Given the description of an element on the screen output the (x, y) to click on. 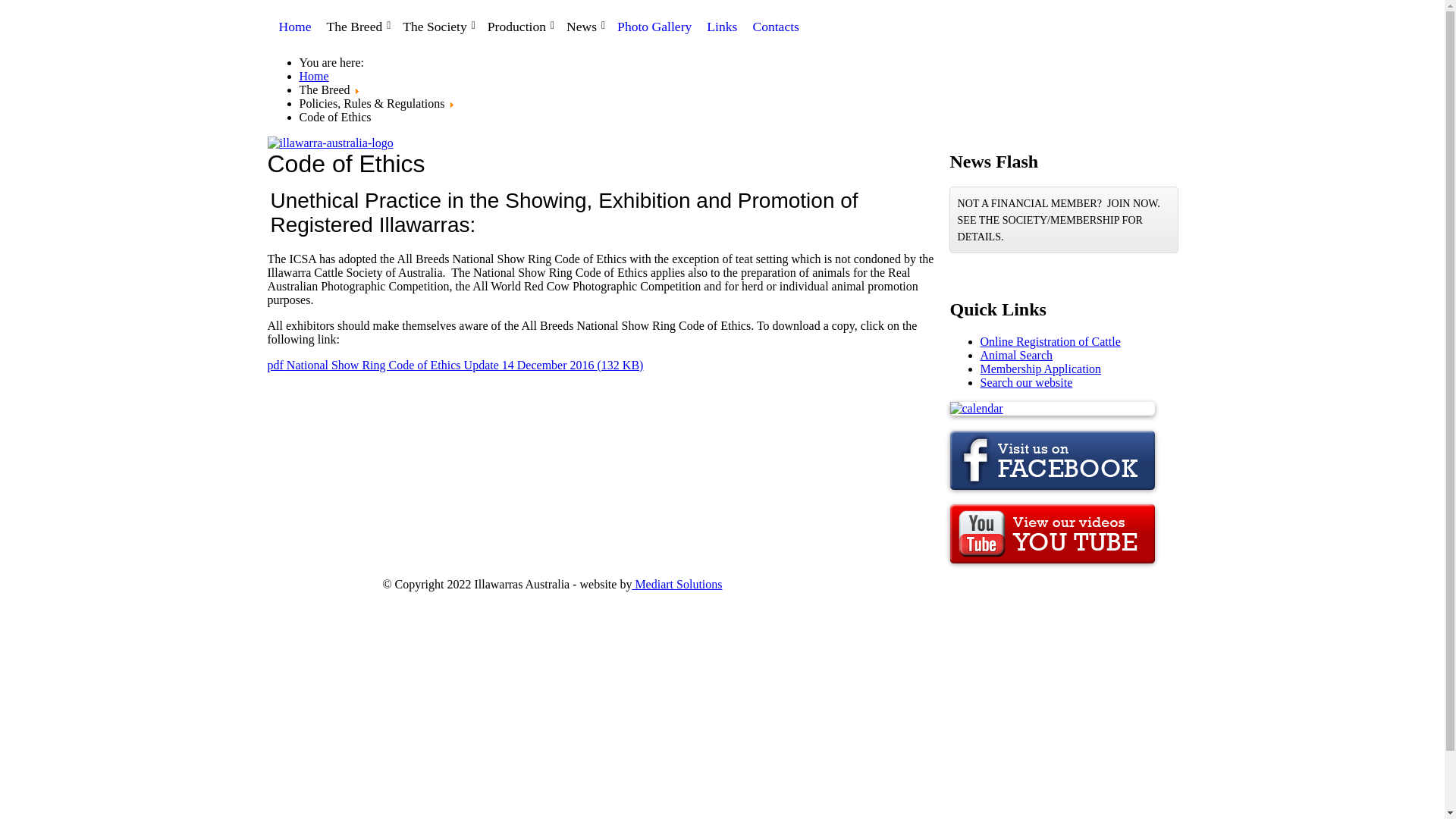
Animal Search Element type: text (1015, 354)
Contacts Element type: text (779, 24)
Home Element type: text (313, 75)
Links Element type: text (725, 24)
Photo Gallery Element type: text (657, 24)
Search our website Element type: text (1025, 382)
Online Registration of Cattle Element type: text (1049, 341)
Membership Application Element type: text (1040, 368)
Home Element type: text (298, 24)
Mediart Solutions Element type: text (676, 583)
